Given the description of an element on the screen output the (x, y) to click on. 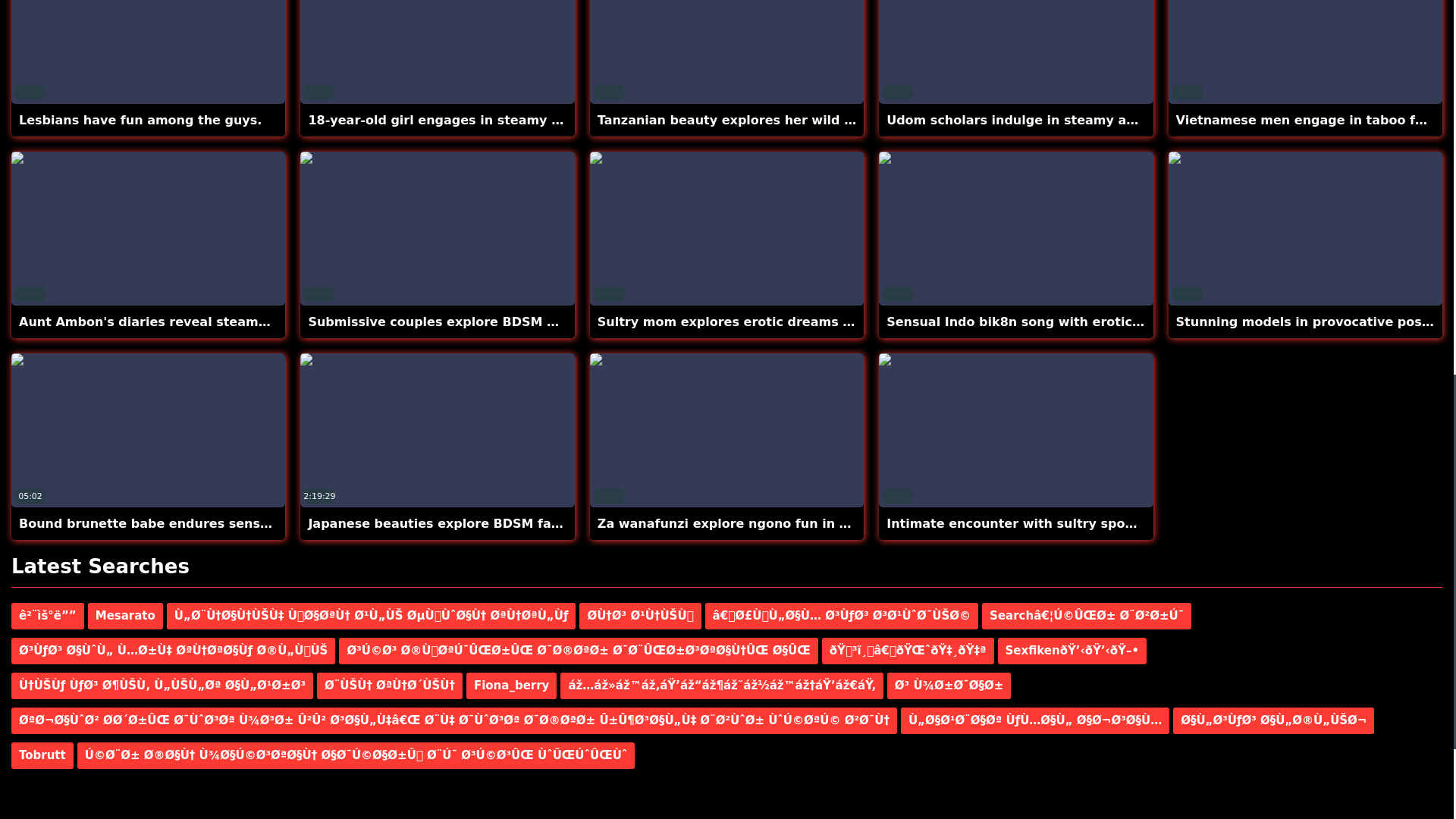
18-year-old girl engages in steamy sexual encounters. (436, 52)
Japanese beauties explore BDSM fantasies (453, 523)
Tanzanian beauty explores her wild desires (744, 120)
Submissive couples explore BDSM dynamics (459, 321)
18-year-old girl engages in steamy sexual encounters. (494, 120)
Tanzanian beauty explores her wild desires (726, 52)
2:19:29 (436, 429)
Sensual Indo bik8n song with erotic overtones. (1047, 321)
Tanzanian beauty explores her wild desires (744, 120)
Lesbians have fun among the guys. (140, 120)
18-year-old girl engages in steamy sexual encounters. (494, 120)
Lesbians have fun among the guys. (148, 52)
Udom scholars indulge in steamy anal action. (1042, 120)
Bound brunette babe endures sensual bondage torture (207, 523)
